Given the description of an element on the screen output the (x, y) to click on. 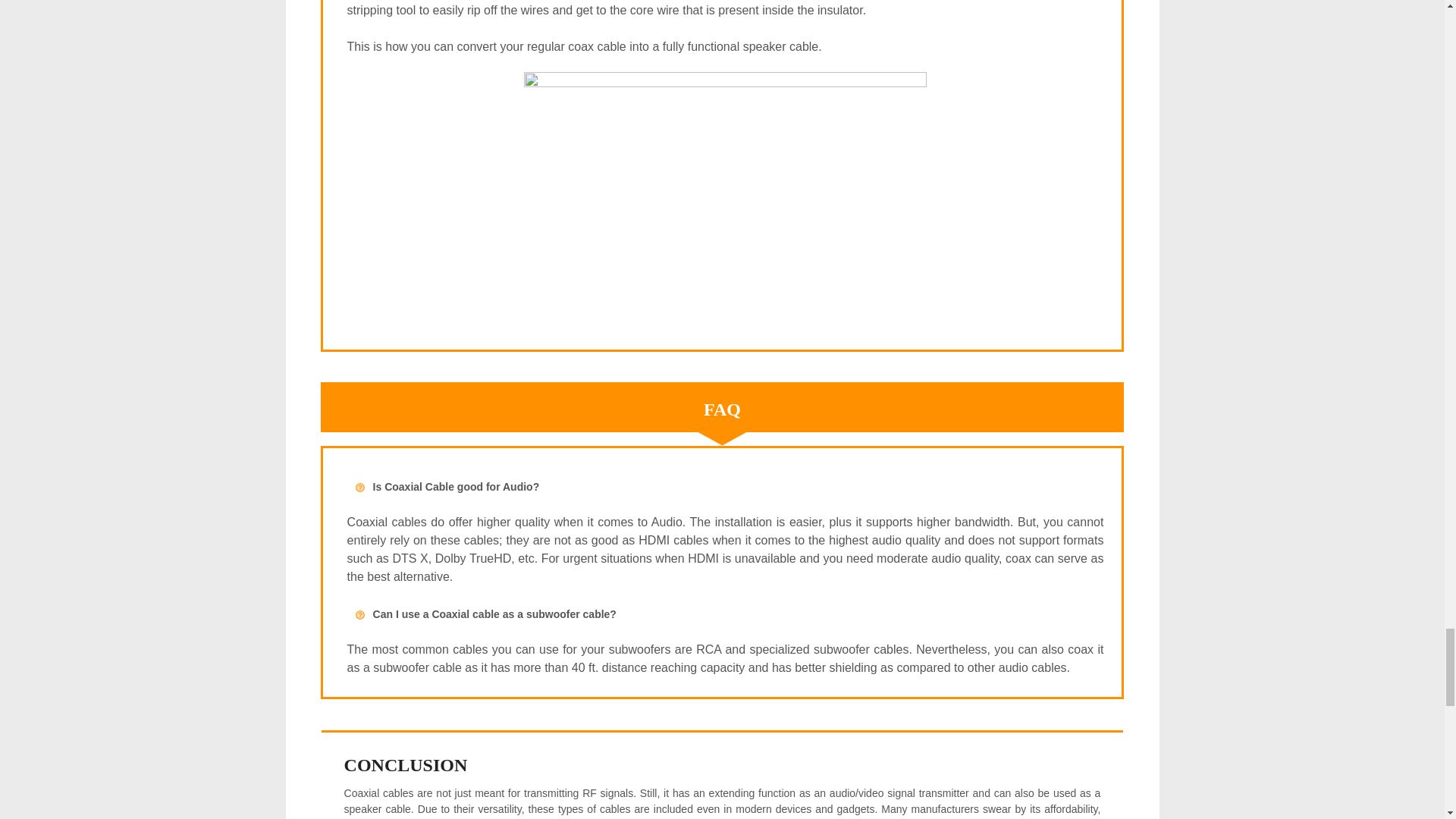
COAXIAL SPEAKER WIRE (725, 193)
